Given the description of an element on the screen output the (x, y) to click on. 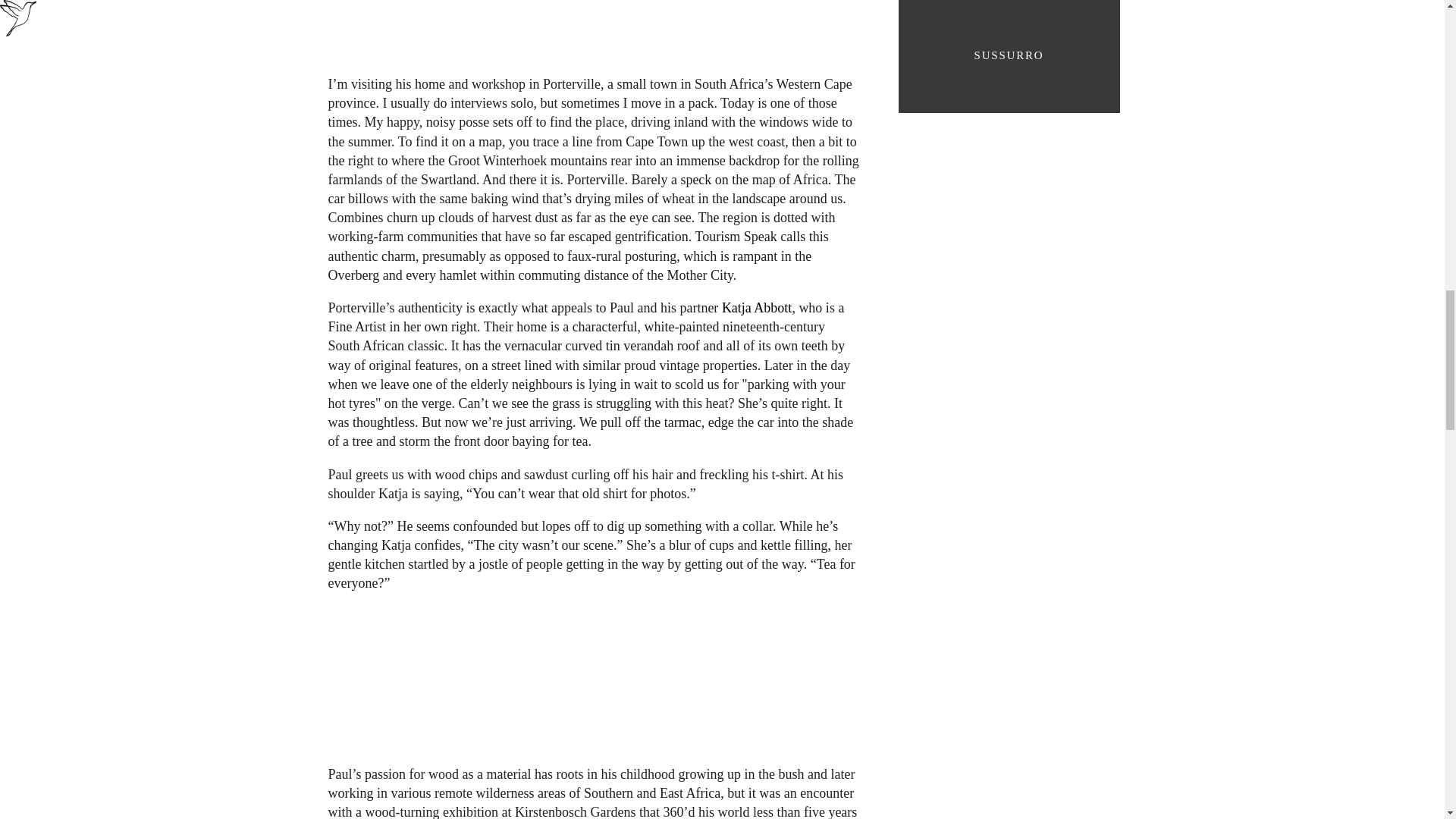
Katja Abbott (757, 307)
SUSSURRO (1008, 62)
